Given the description of an element on the screen output the (x, y) to click on. 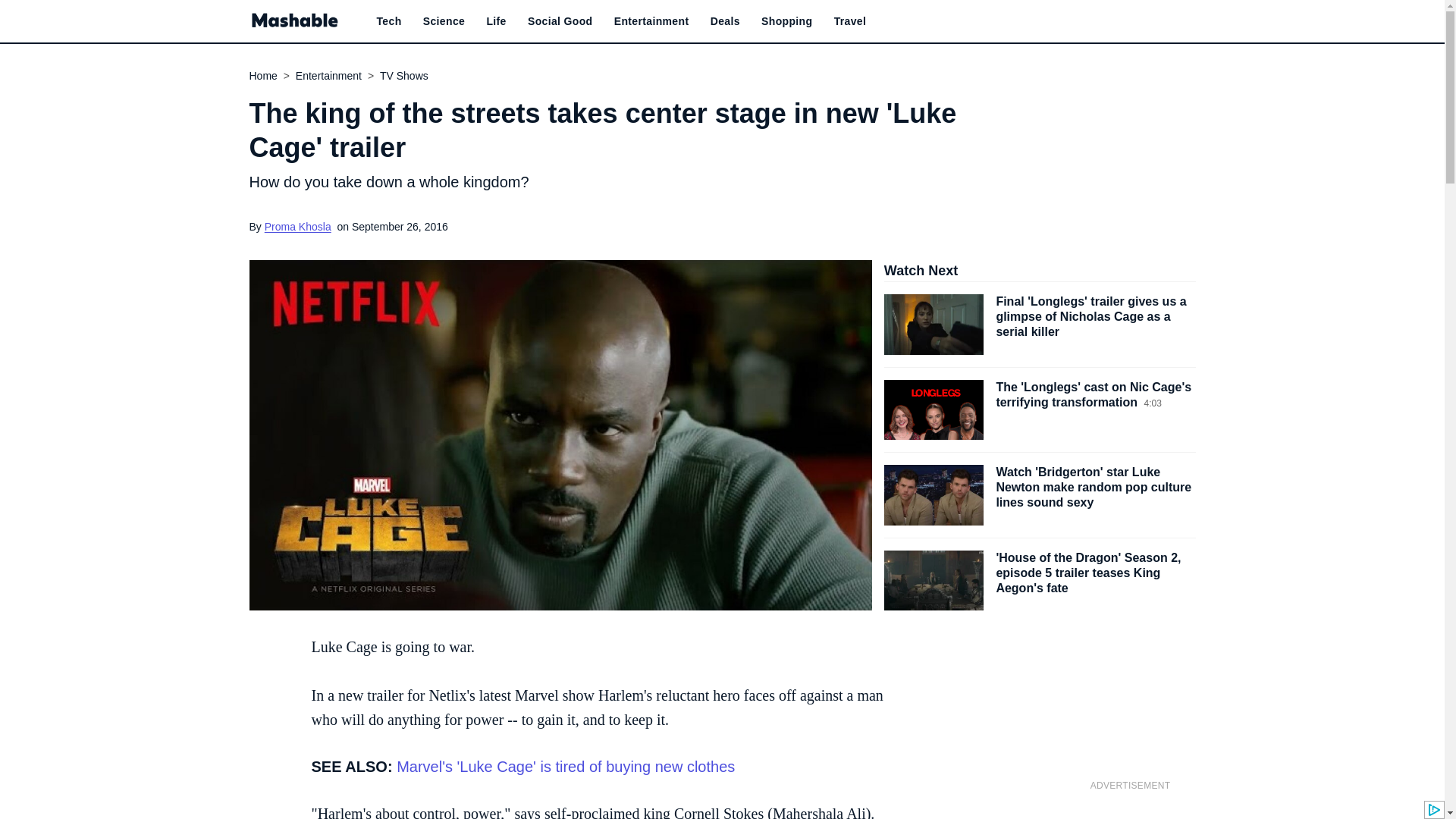
Shopping (786, 21)
Travel (850, 21)
Social Good (559, 21)
Life (495, 21)
Science (443, 21)
Entertainment (651, 21)
Deals (724, 21)
Tech (388, 21)
